Given the description of an element on the screen output the (x, y) to click on. 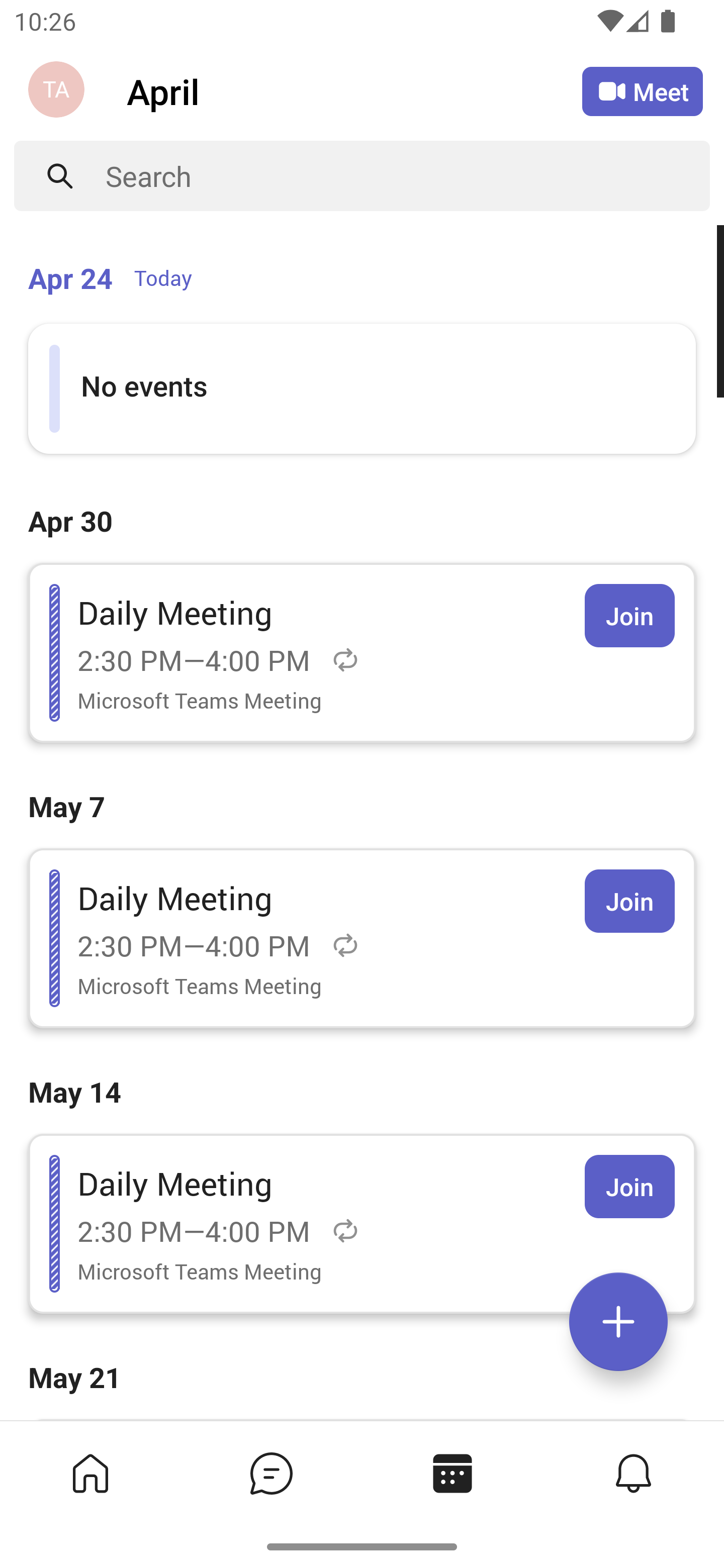
Navigation (58, 91)
Meet Meet now or join with an ID (642, 91)
April April Calendar Agenda View (354, 90)
Search (407, 176)
Join (629, 615)
Join (629, 900)
Join (629, 1186)
Expand meetings menu (618, 1321)
Home tab,1 of 4, not selected (89, 1472)
Chat tab,2 of 4, not selected (270, 1472)
Calendar tab, 3 of 4 (451, 1472)
Activity tab,4 of 4, not selected (632, 1472)
